Given the description of an element on the screen output the (x, y) to click on. 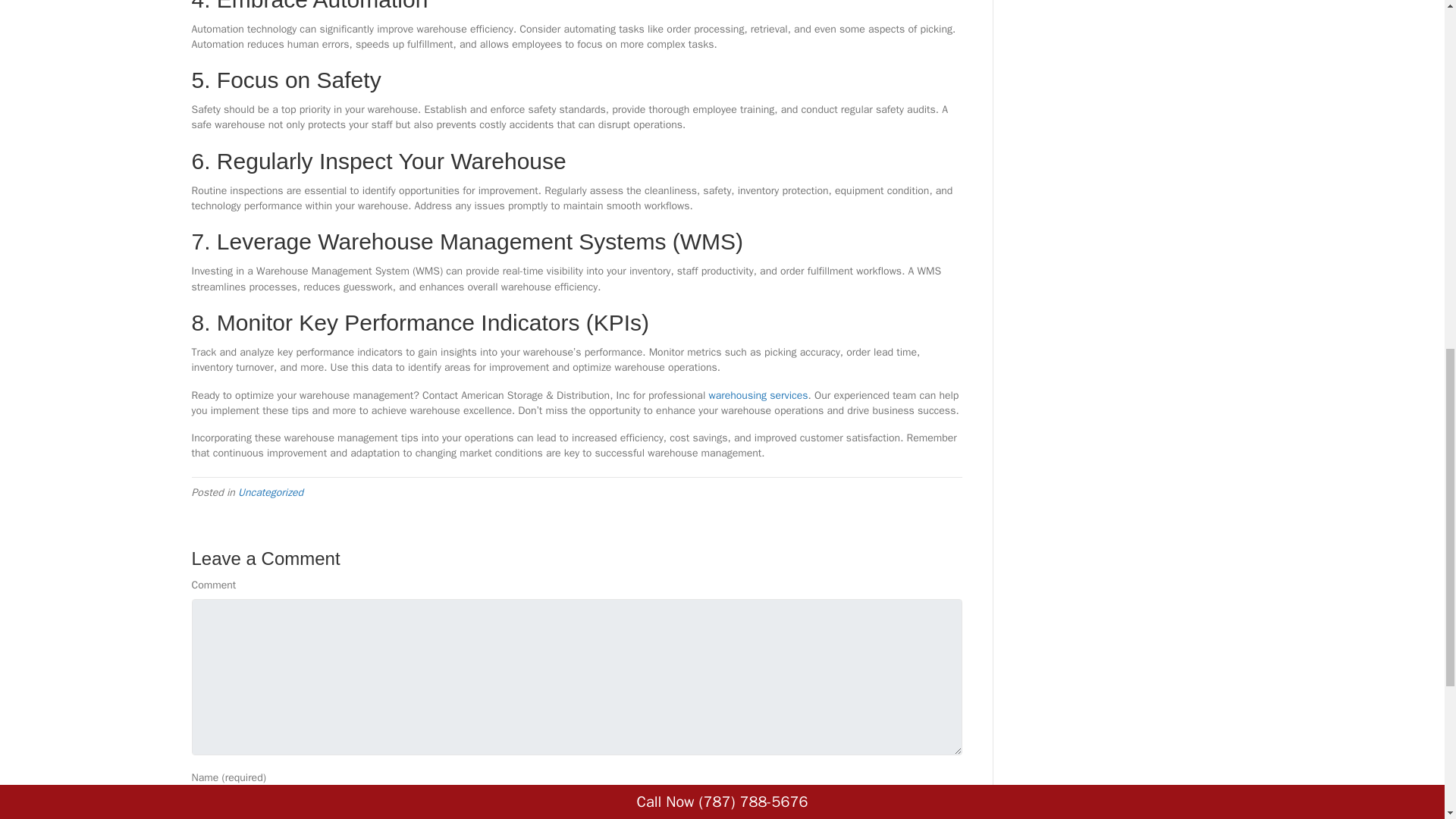
Uncategorized (270, 492)
warehousing services (757, 394)
